Given the description of an element on the screen output the (x, y) to click on. 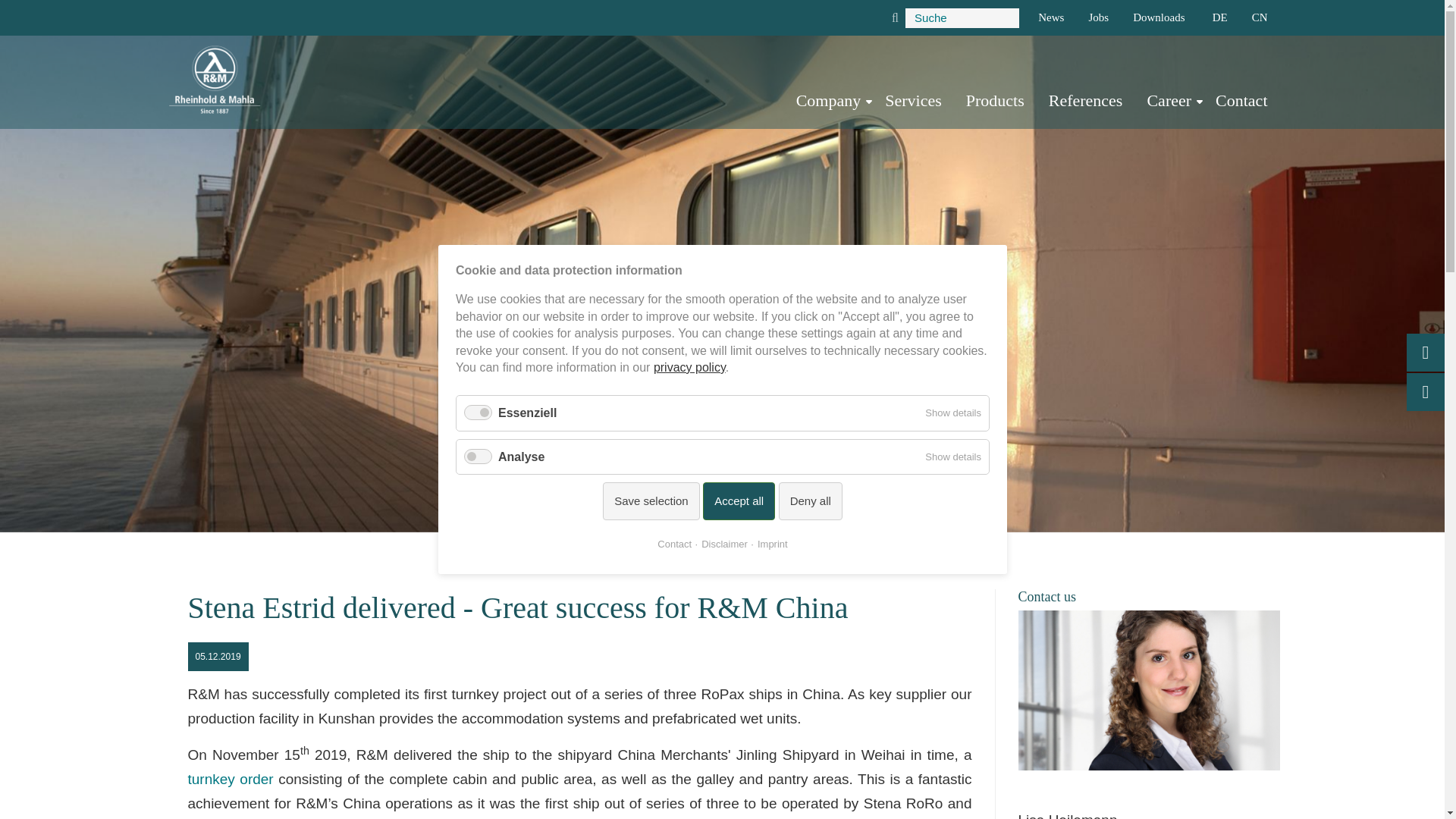
Suche (962, 17)
Suche (962, 17)
